Given the description of an element on the screen output the (x, y) to click on. 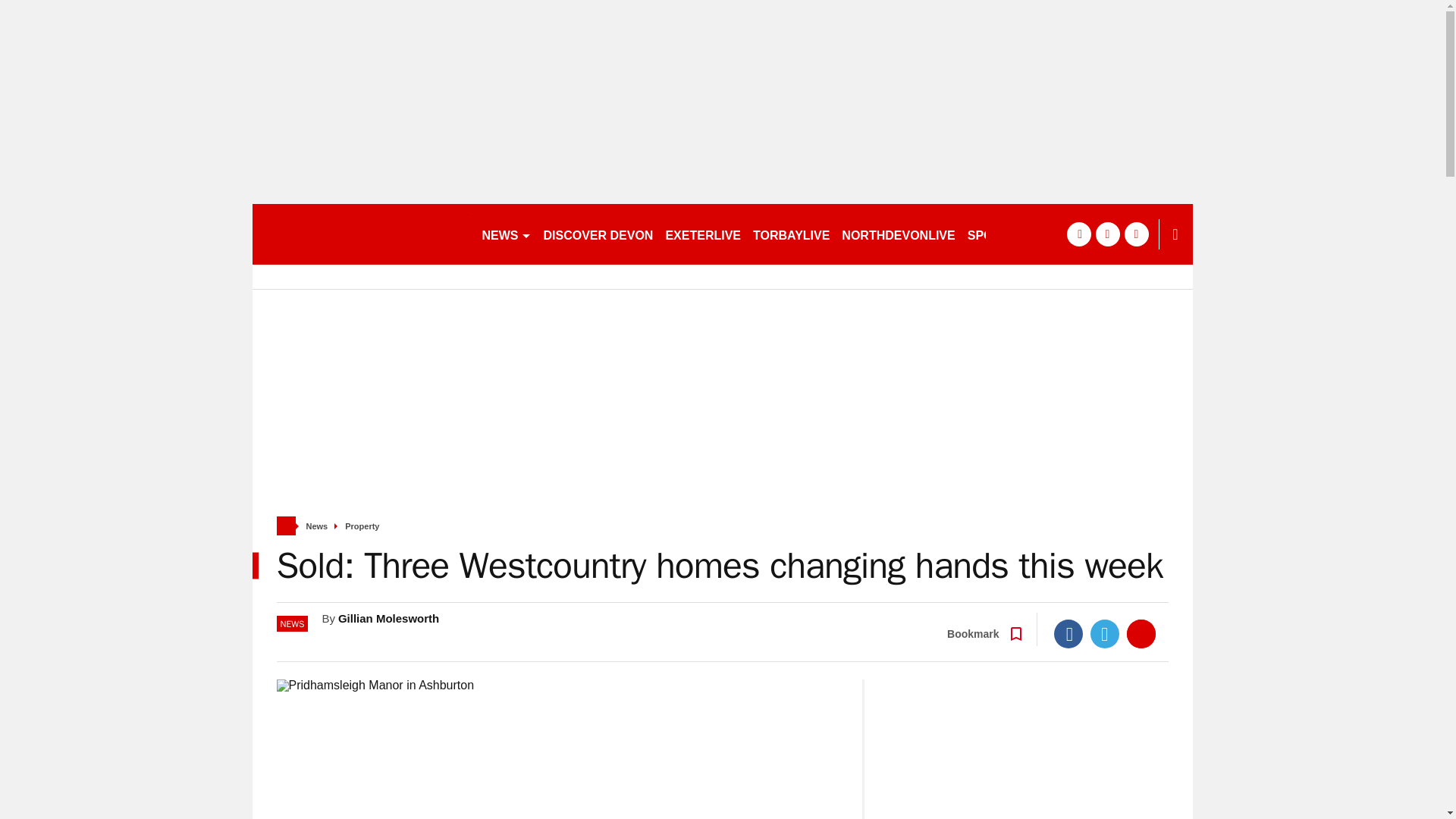
NORTHDEVONLIVE (897, 233)
Twitter (1104, 633)
twitter (1106, 233)
NEWS (506, 233)
SPORT (993, 233)
DISCOVER DEVON (598, 233)
facebook (1077, 233)
devonlive (359, 233)
instagram (1136, 233)
Facebook (1068, 633)
EXETERLIVE (702, 233)
TORBAYLIVE (790, 233)
